Given the description of an element on the screen output the (x, y) to click on. 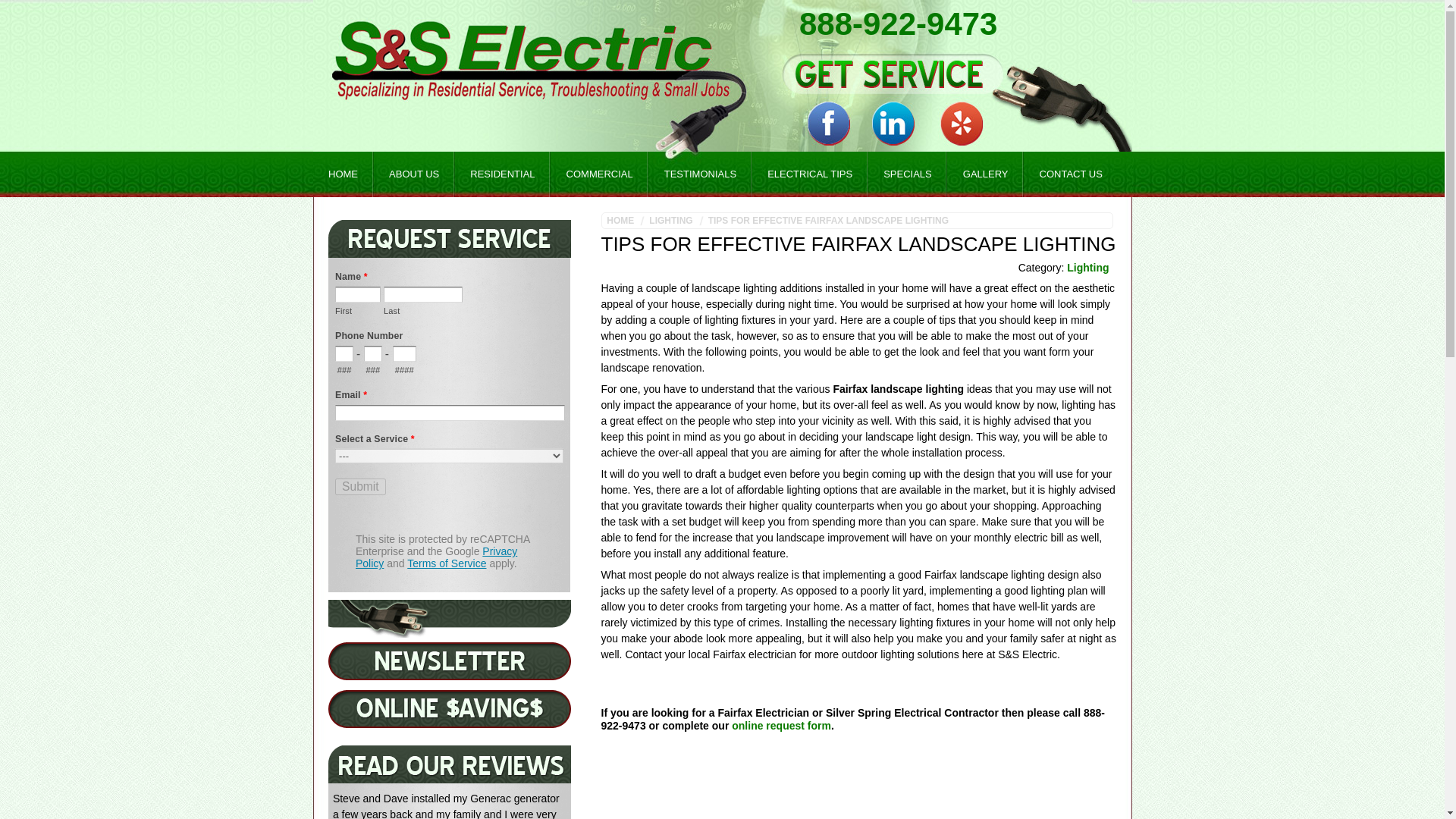
888-922-9473 (898, 13)
LIGHTING (669, 220)
RESIDENTIAL (502, 174)
GALLERY (985, 174)
SPECIALS (907, 174)
CONTACT US (1070, 174)
ABOUT US (414, 174)
COMMERCIAL (598, 174)
HOME (623, 220)
View all posts in Lighting (1087, 267)
HOME (342, 174)
ELECTRICAL TIPS (809, 174)
Opens in a new window (829, 122)
TESTIMONIALS (699, 174)
